Given the description of an element on the screen output the (x, y) to click on. 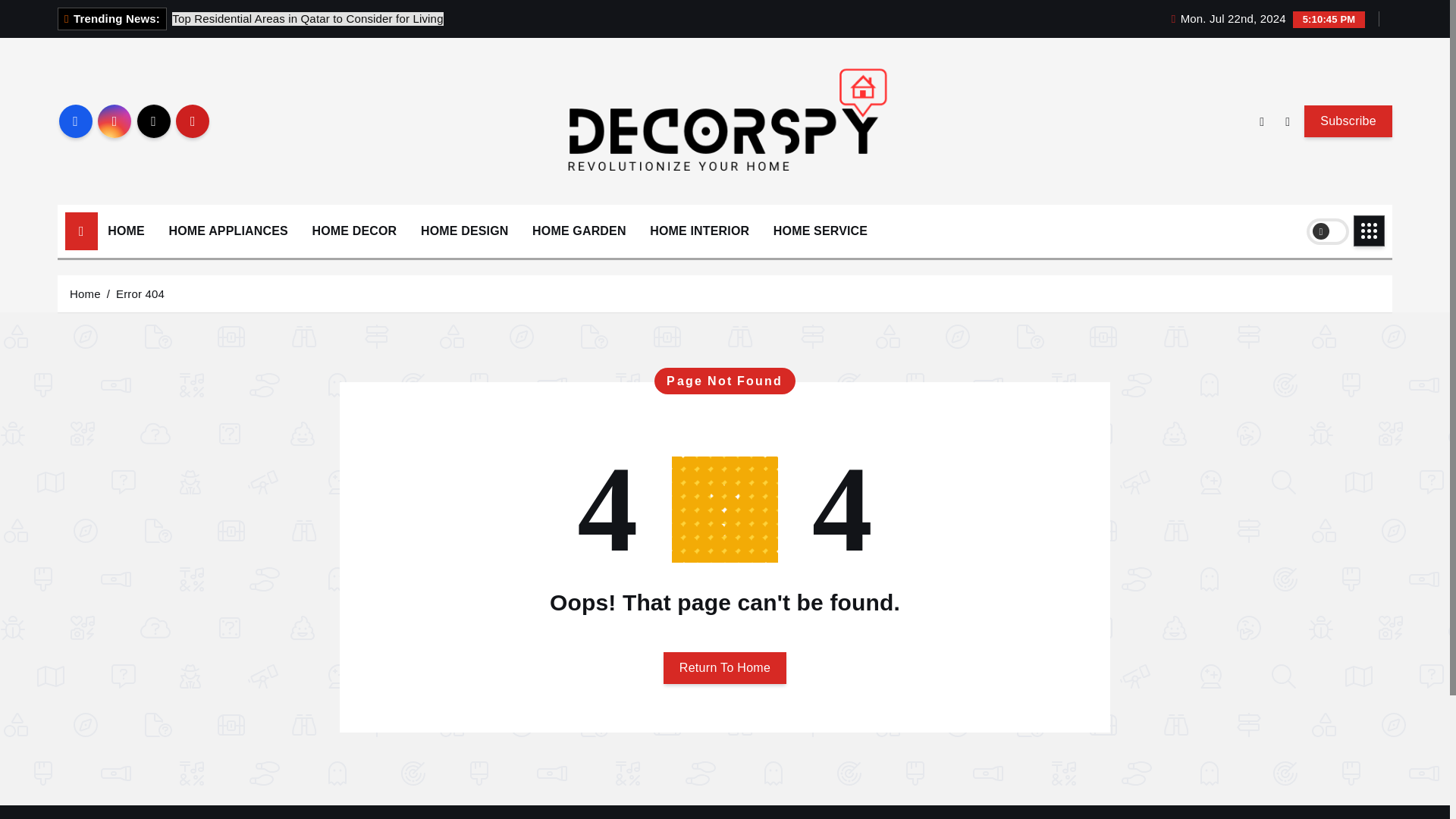
HOME DESIGN (464, 231)
HOME INTERIOR (699, 231)
HOME GARDEN (579, 231)
HOME DECOR (353, 231)
HOME APPLIANCES (227, 231)
HOME SERVICE (819, 231)
HOME (125, 231)
HOME GARDEN (579, 231)
Subscribe (1347, 121)
HOME (125, 231)
HOME DESIGN (464, 231)
HOME DECOR (353, 231)
HOME APPLIANCES (227, 231)
HOME SERVICE (819, 231)
HOME INTERIOR (699, 231)
